Given the description of an element on the screen output the (x, y) to click on. 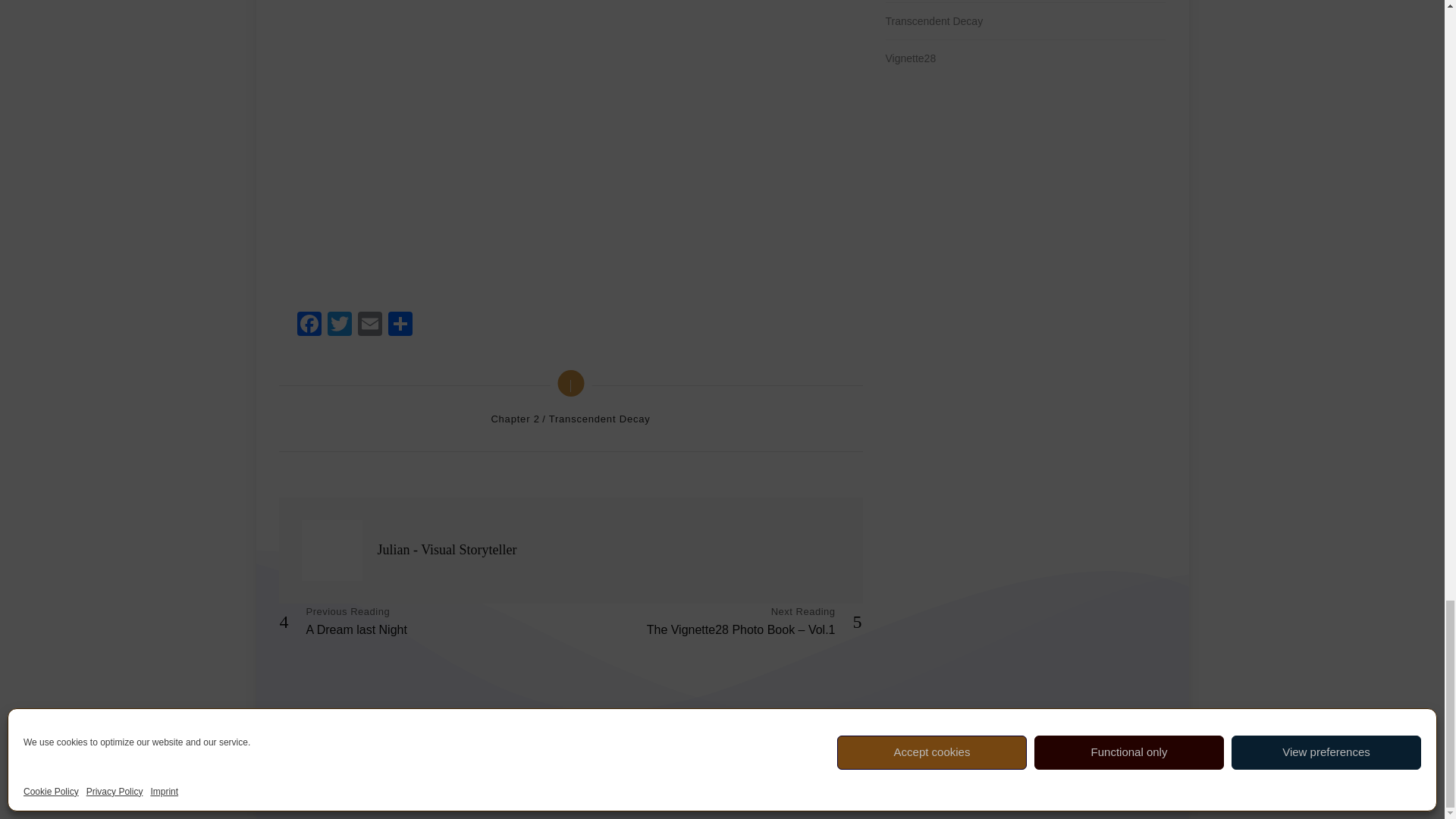
Twitter (339, 325)
Email (370, 325)
Facebook (309, 325)
